Given the description of an element on the screen output the (x, y) to click on. 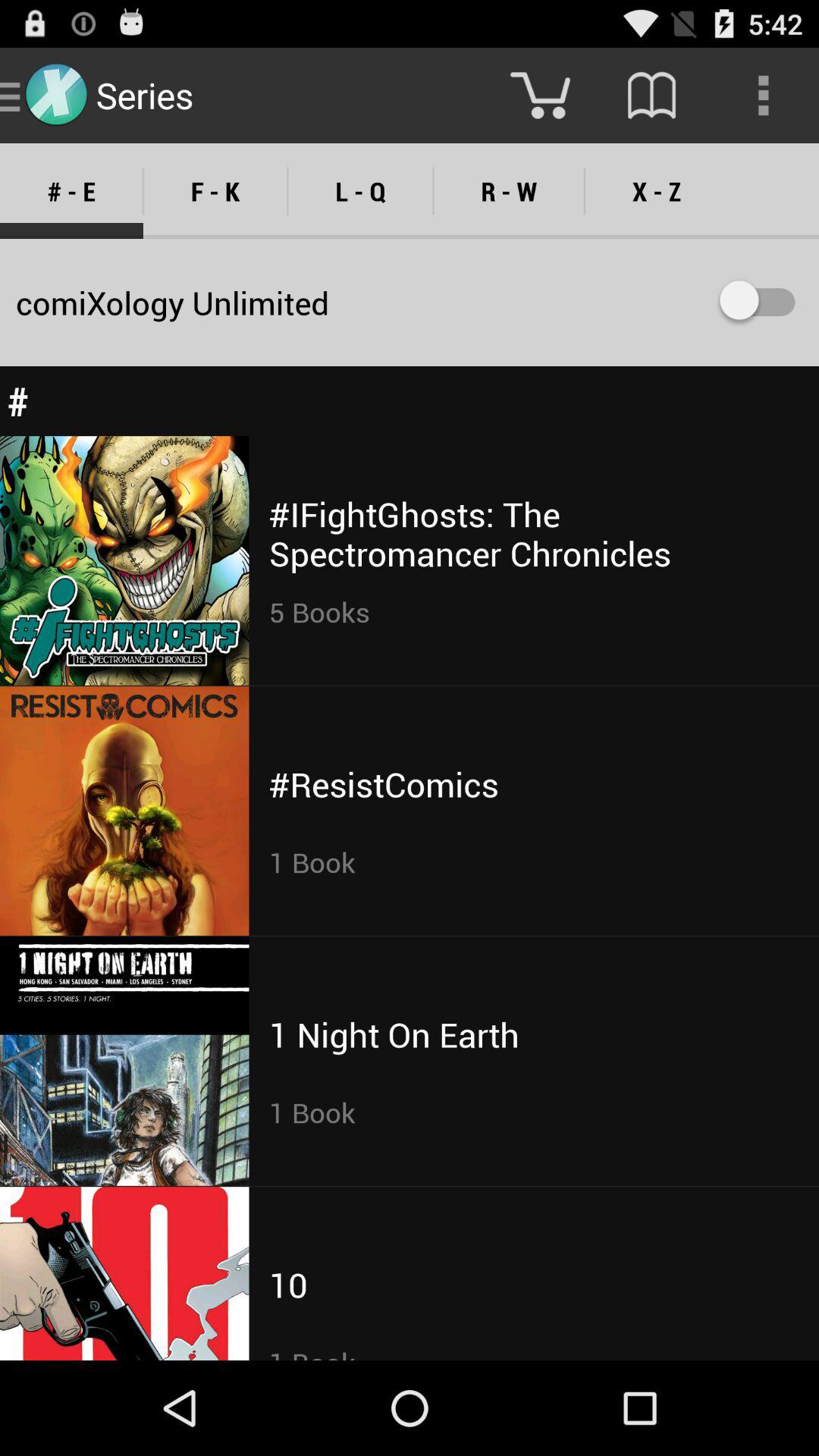
open the item above the x - z (763, 95)
